Given the description of an element on the screen output the (x, y) to click on. 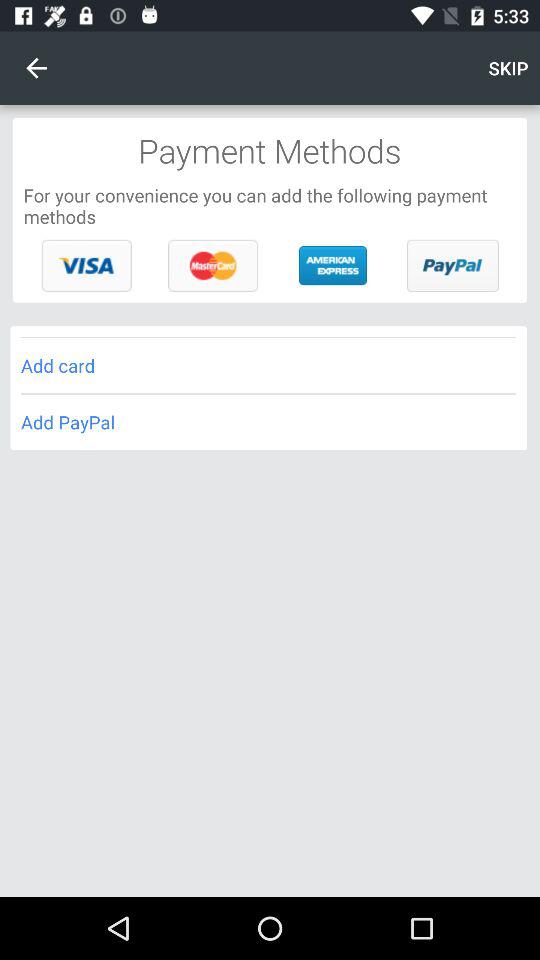
scroll until add paypal (268, 422)
